Given the description of an element on the screen output the (x, y) to click on. 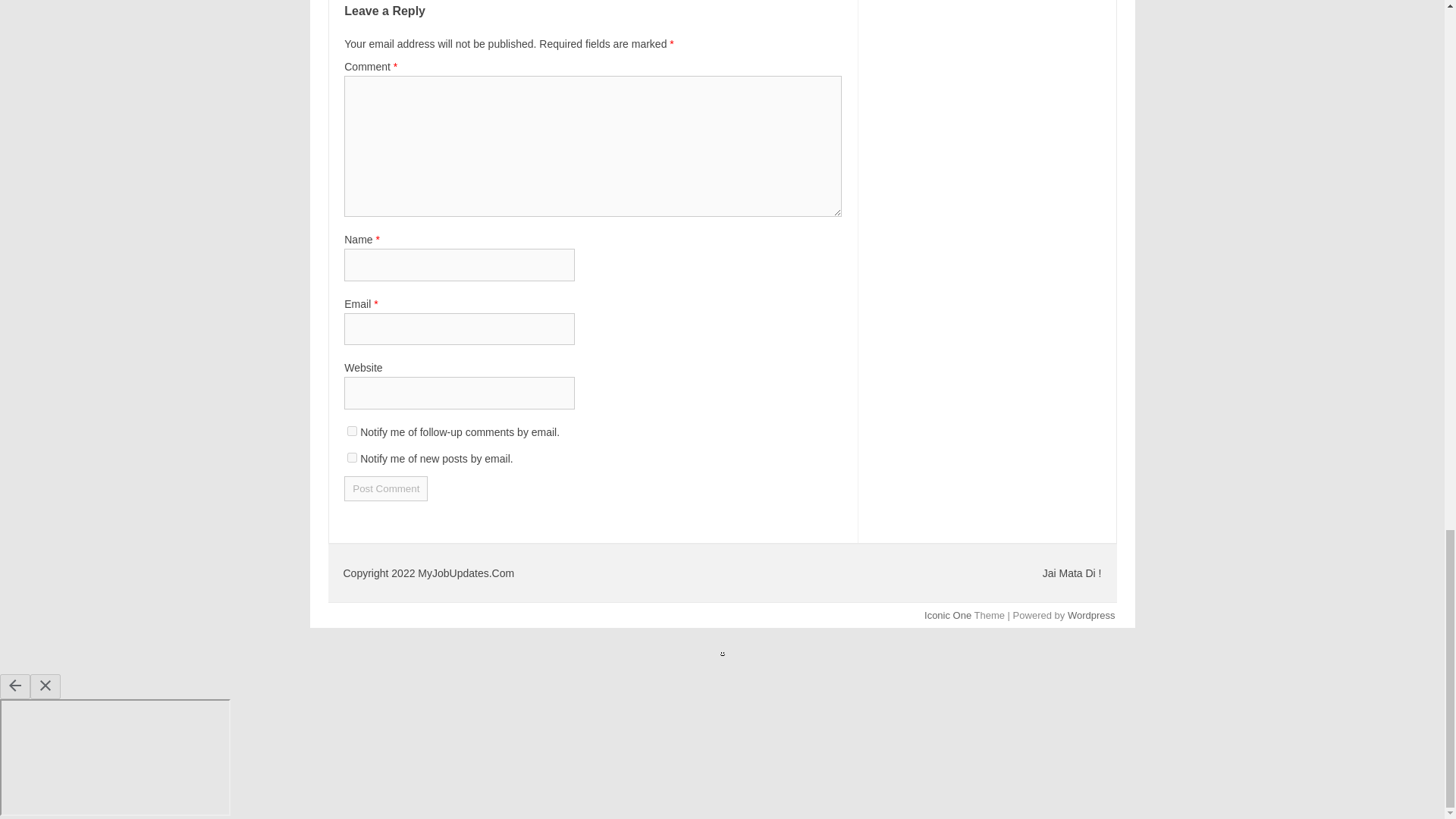
subscribe (351, 457)
Iconic One (947, 614)
Wordpress (1091, 614)
subscribe (351, 430)
Post Comment (385, 488)
Post Comment (385, 488)
